Given the description of an element on the screen output the (x, y) to click on. 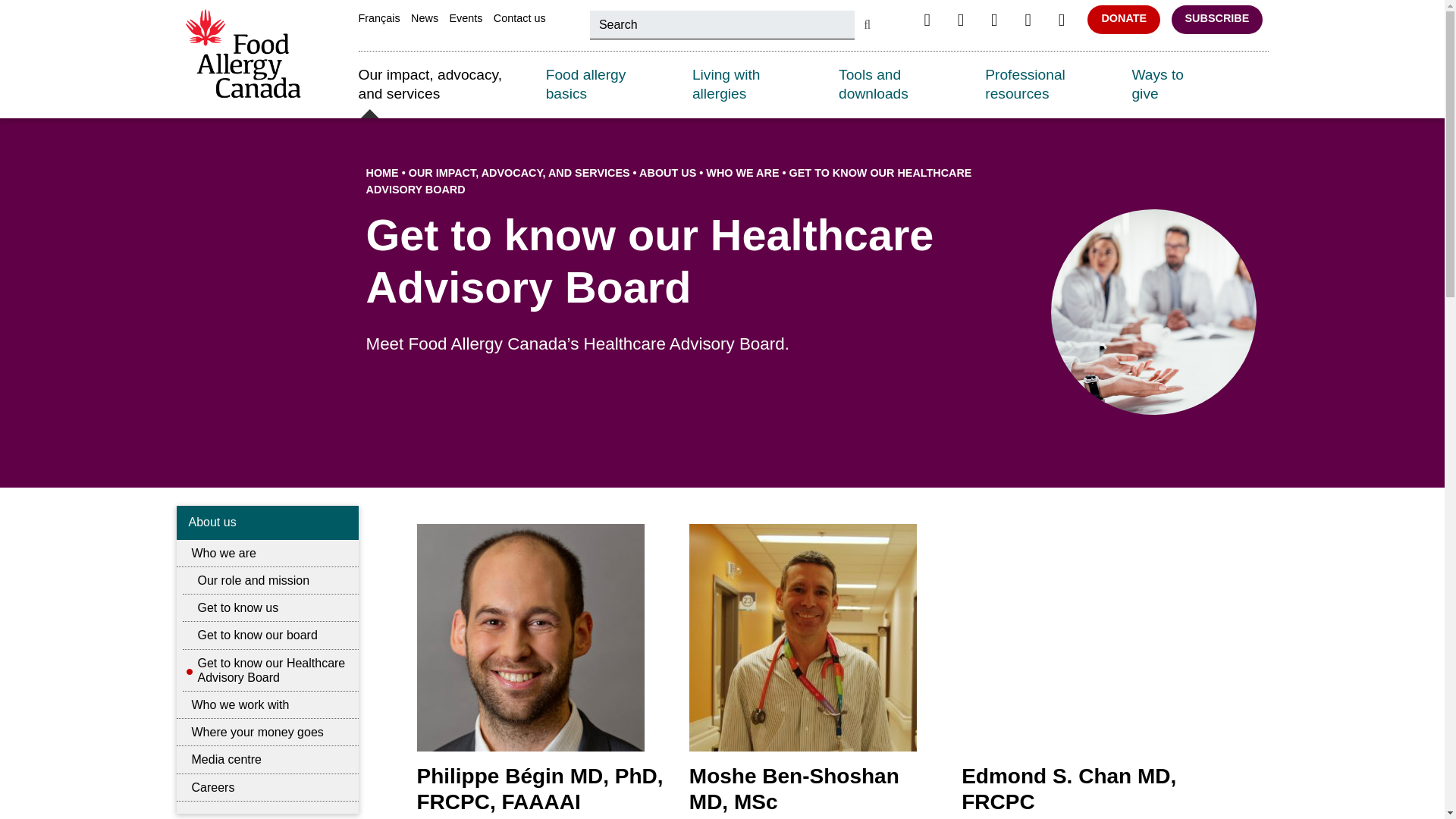
Our impact, advocacy, and services (439, 84)
Contact us (519, 18)
Events (464, 18)
twitter (959, 19)
linkedin (1026, 19)
Submit (866, 24)
youtube (1061, 19)
instagram (993, 19)
SUBSCRIBE (1217, 18)
News (424, 18)
DONATE (1123, 18)
facebook (926, 19)
